Given the description of an element on the screen output the (x, y) to click on. 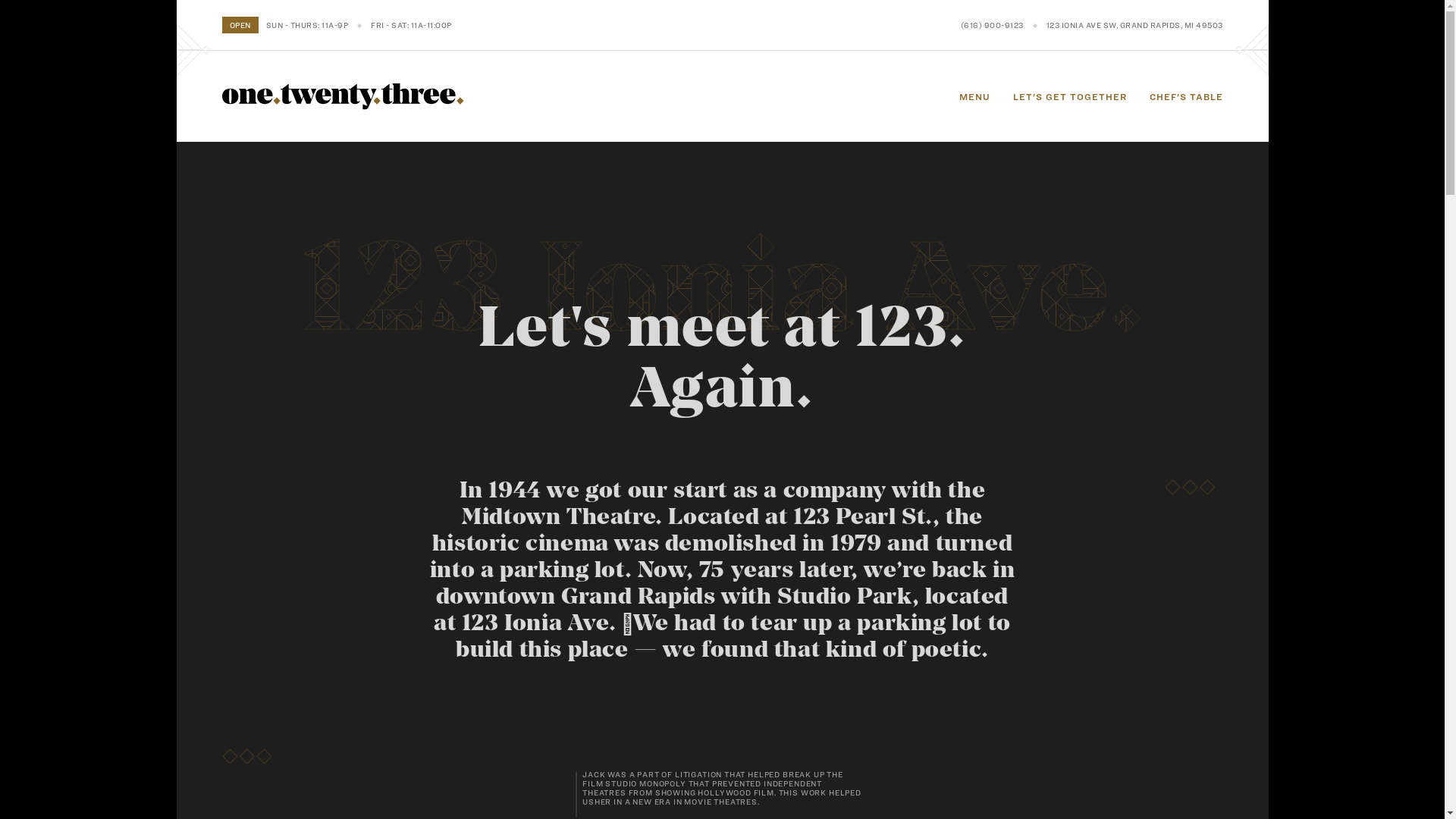
(616) 900-9123 Element type: text (991, 24)
MENU Element type: text (973, 96)
123 IONIA AVE SW, GRAND RAPIDS, MI 49503 Element type: text (1134, 24)
LET'S GET TOGETHER Element type: text (1069, 96)
CHEF'S TABLE Element type: text (1186, 96)
